Given the description of an element on the screen output the (x, y) to click on. 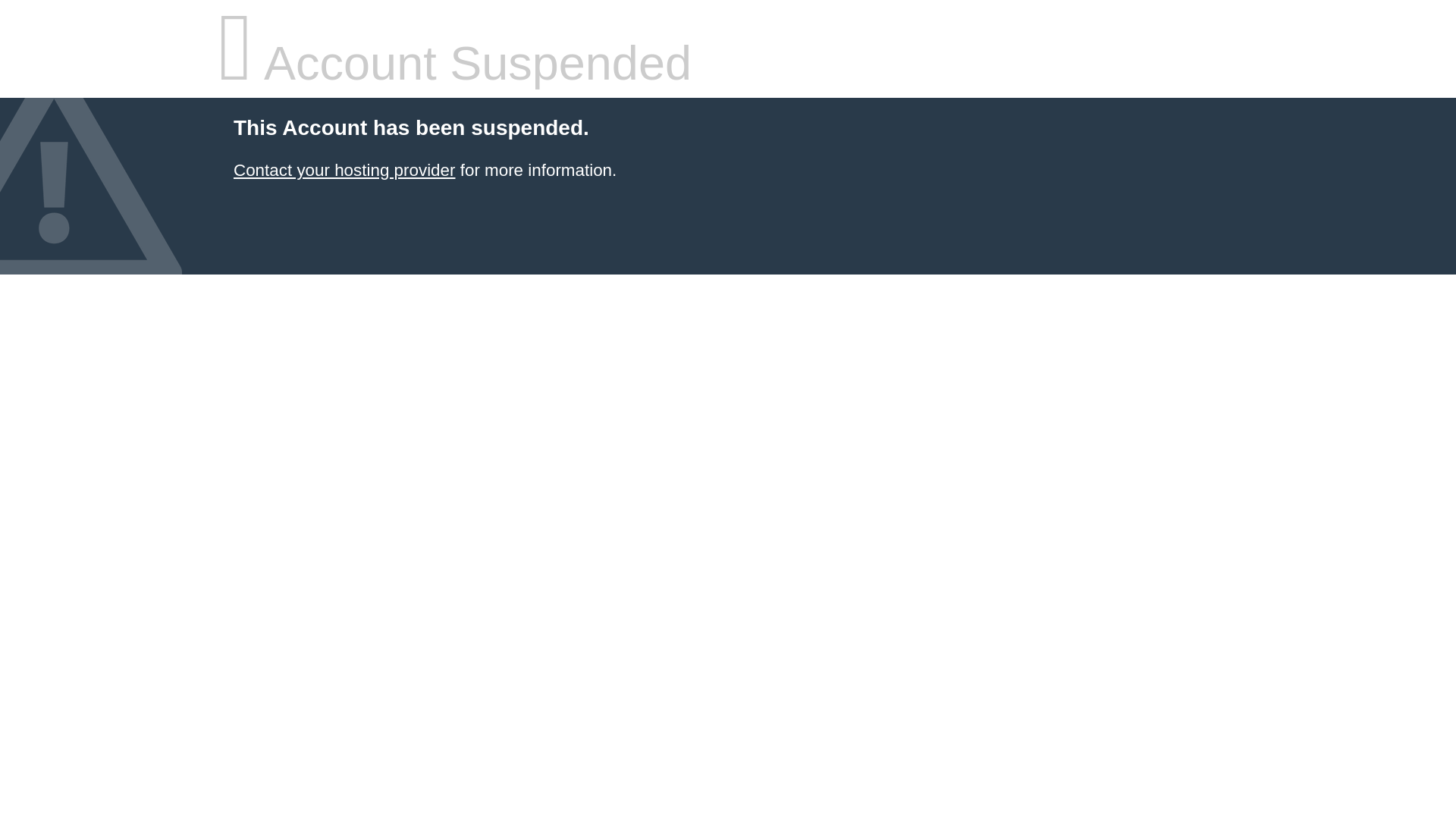
Contact your hosting provider (343, 169)
